Given the description of an element on the screen output the (x, y) to click on. 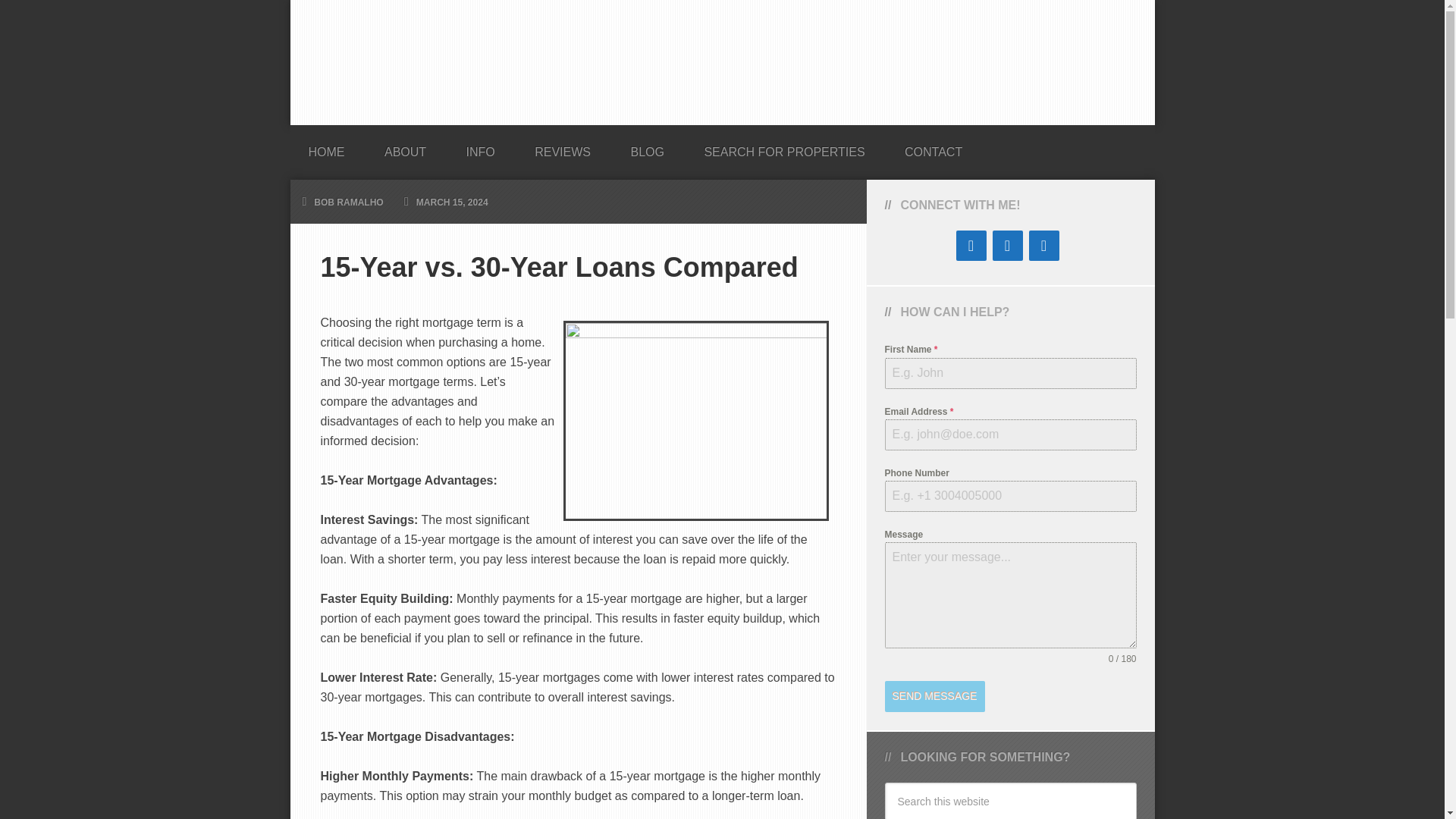
ABOUT (405, 147)
SEND MESSAGE (933, 695)
INFO (480, 147)
BOB RAMALHO (721, 62)
HOME (325, 147)
BLOG (646, 147)
CONTACT (932, 147)
BOB RAMALHO (348, 202)
SEARCH FOR PROPERTIES (783, 147)
REVIEWS (562, 147)
